Given the description of an element on the screen output the (x, y) to click on. 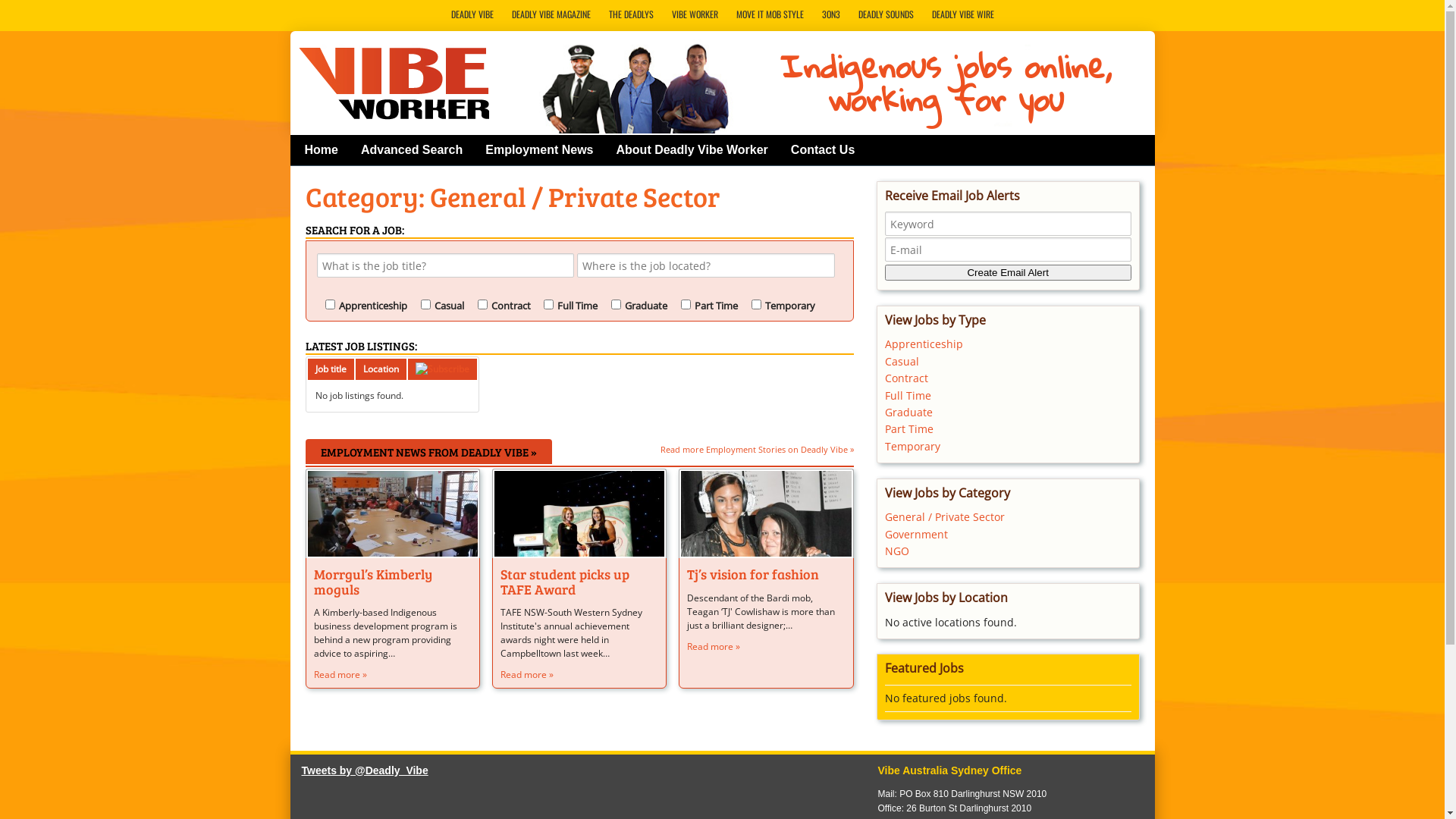
NGO Element type: text (896, 550)
Temporary Element type: text (912, 446)
Full Time Element type: text (907, 395)
Government Element type: text (915, 534)
Apprenticeship Element type: text (923, 343)
Home Element type: text (321, 149)
Star student picks up TAFE Award Element type: hover (579, 517)
Star student picks up TAFE Award Element type: text (564, 581)
Create Email Alert Element type: text (1007, 272)
Casual Element type: text (901, 361)
Vibe Worker Element type: hover (398, 80)
Contact Us Element type: text (822, 149)
Graduate Element type: text (908, 411)
Employment News Element type: text (538, 149)
About Deadly Vibe Worker Element type: text (691, 149)
Advanced Search Element type: text (411, 149)
Tweets by @Deadly_Vibe Element type: text (364, 770)
Contract Element type: text (906, 377)
General / Private Sector Element type: text (944, 516)
Part Time Element type: text (908, 428)
